Given the description of an element on the screen output the (x, y) to click on. 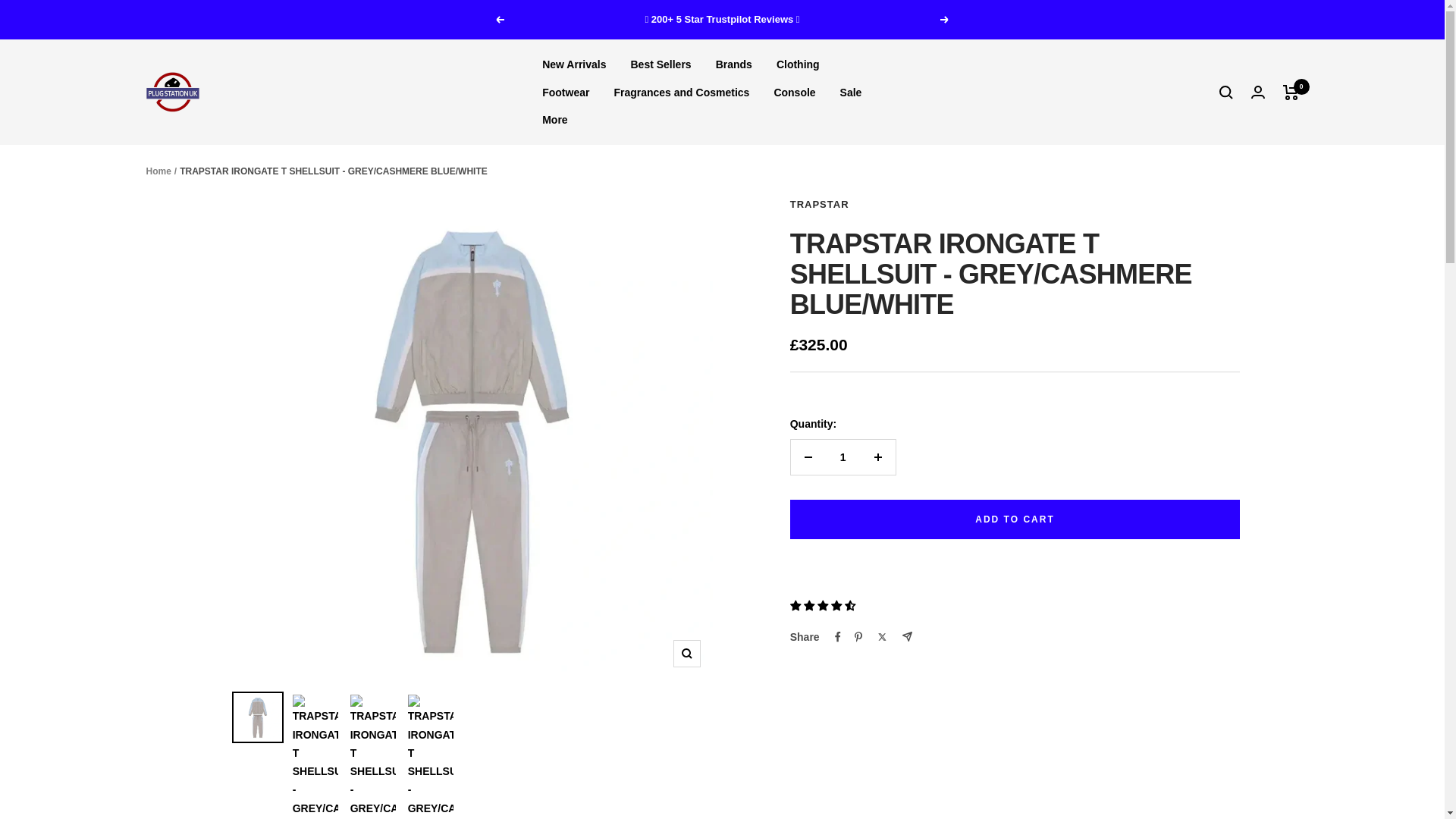
Sale (850, 92)
Clothing (797, 64)
Brands (734, 64)
Previous (499, 19)
Console (794, 92)
Best Sellers (660, 64)
Footwear (565, 92)
Next (944, 19)
0 (1290, 92)
Plugstationuk (171, 92)
More (554, 119)
New Arrivals (573, 64)
1 (842, 457)
Fragrances and Cosmetics (680, 92)
